Given the description of an element on the screen output the (x, y) to click on. 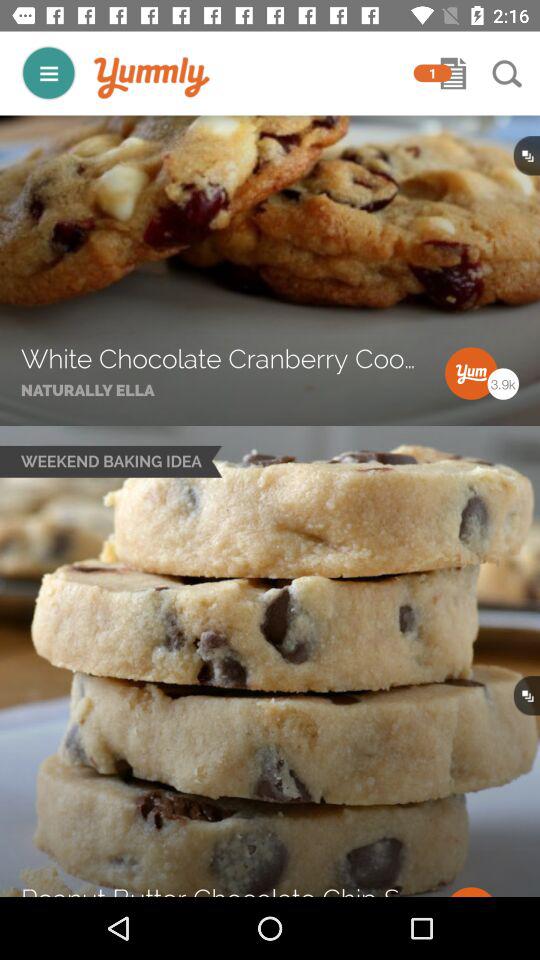
open main menu (48, 72)
